Given the description of an element on the screen output the (x, y) to click on. 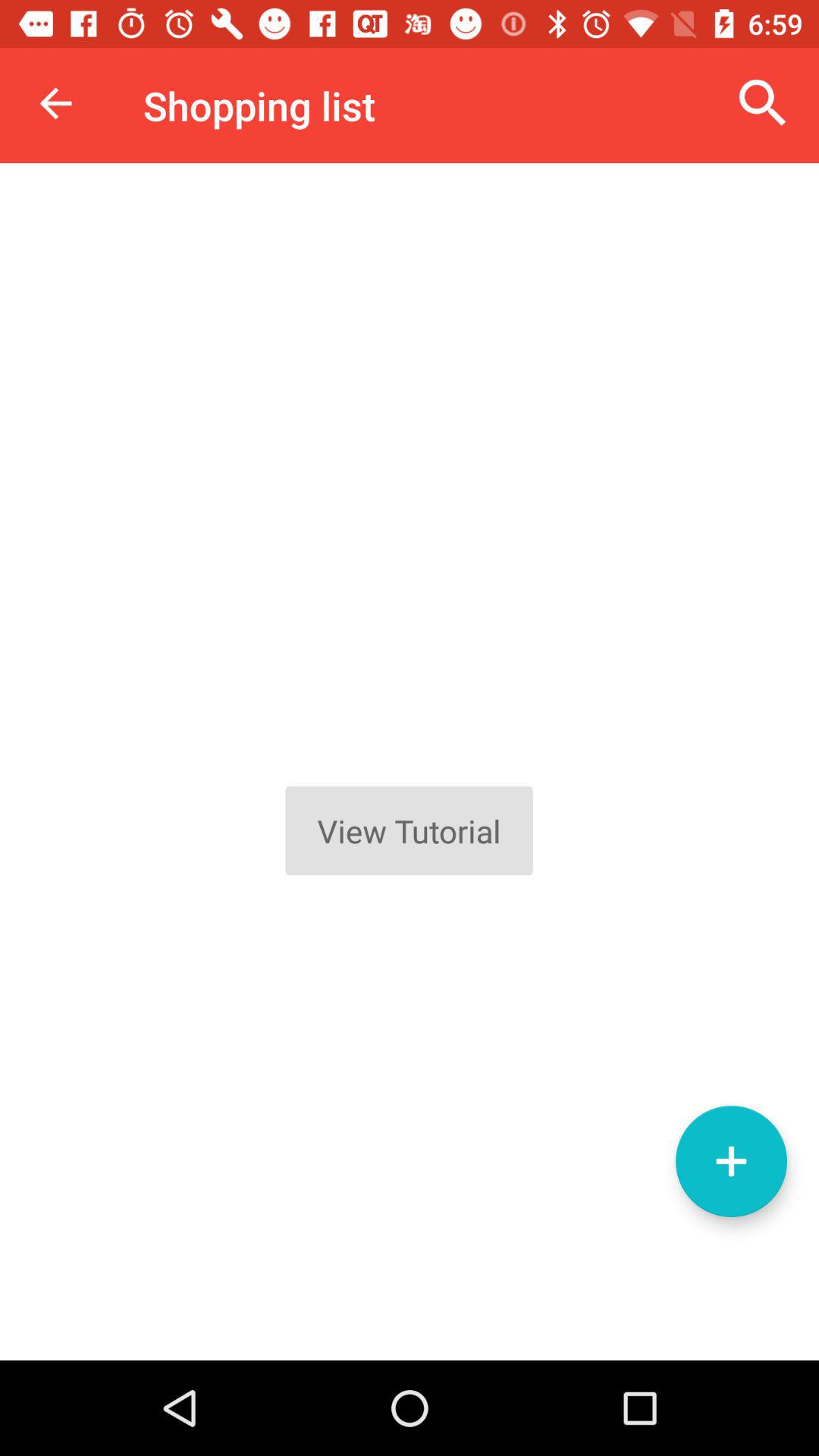
press icon at the top right corner (763, 103)
